Given the description of an element on the screen output the (x, y) to click on. 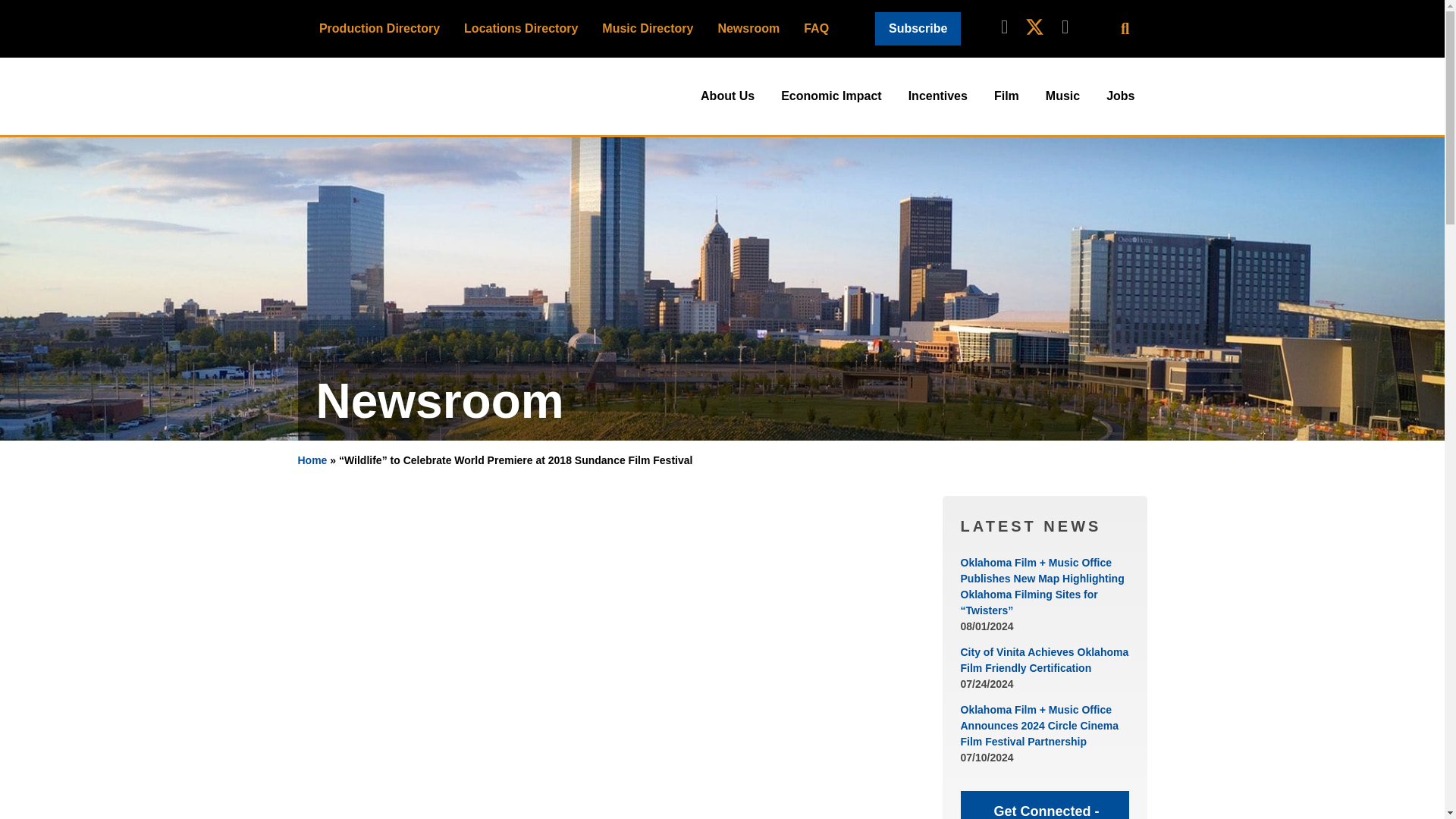
Incentives (937, 95)
Newsroom (748, 28)
Subscribe (917, 28)
Locations Directory (520, 28)
Production Directory (379, 28)
Economic Impact (830, 95)
Film (1005, 95)
Music (1062, 95)
FAQ (816, 28)
Music Directory (646, 28)
